Given the description of an element on the screen output the (x, y) to click on. 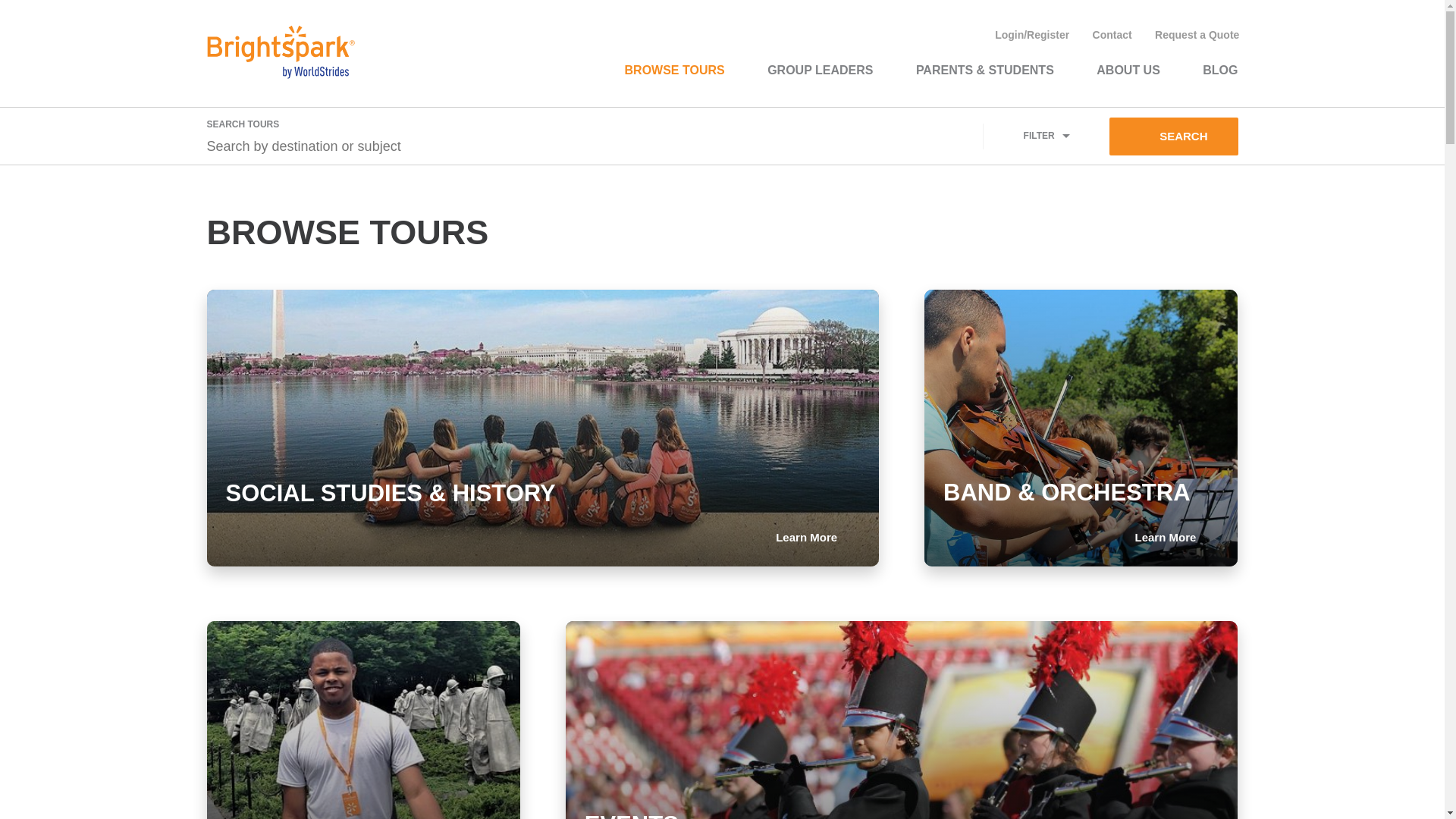
BROWSE TOURS (674, 69)
ABOUT US (1128, 69)
Request a Quote (1196, 35)
Contact (1112, 35)
GROUP LEADERS (820, 69)
BLOG (1219, 69)
FILTER (1046, 136)
